Given the description of an element on the screen output the (x, y) to click on. 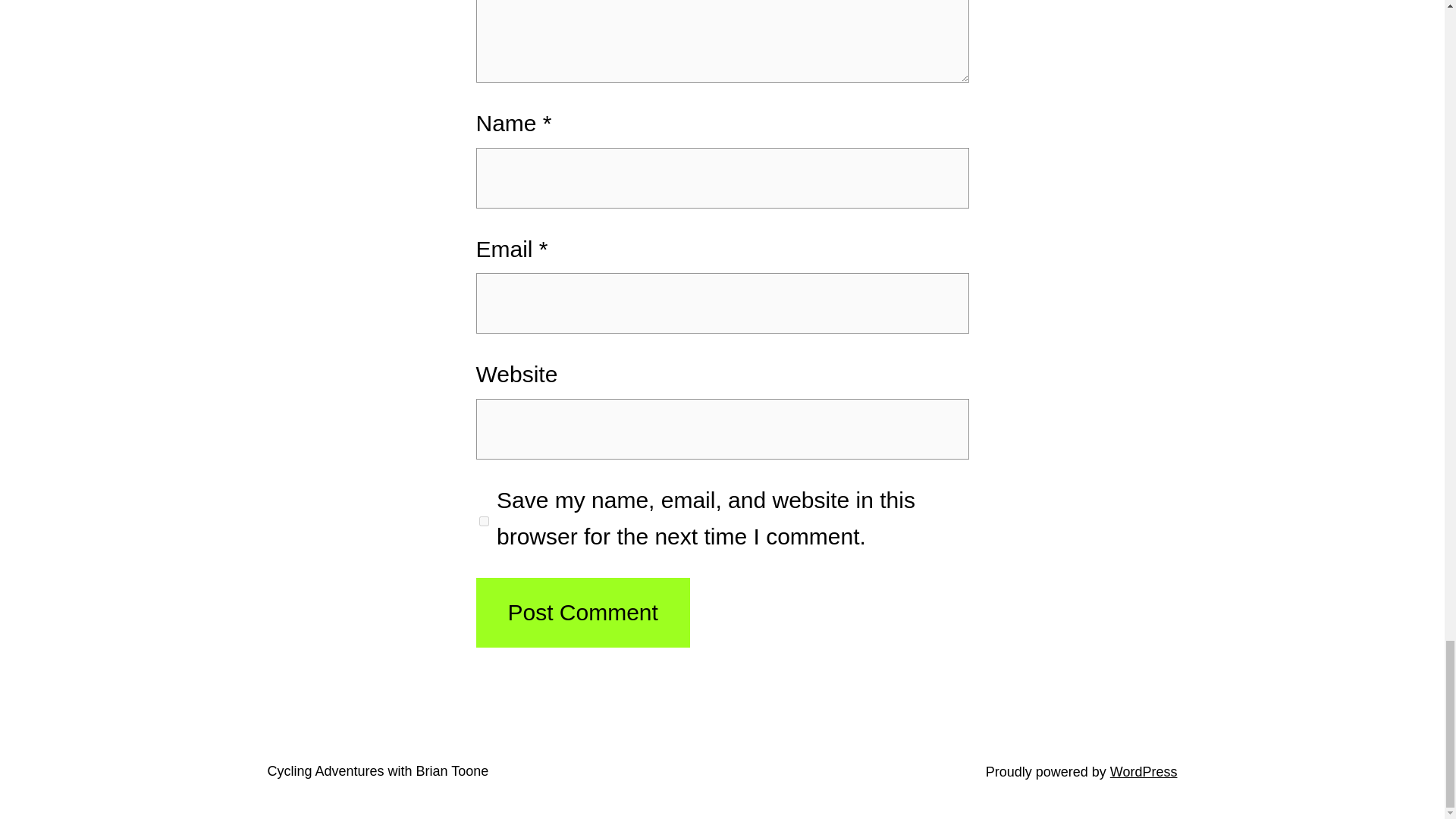
Cycling Adventures with Brian Toone (376, 770)
Post Comment (583, 612)
WordPress (1143, 771)
Post Comment (583, 612)
